Given the description of an element on the screen output the (x, y) to click on. 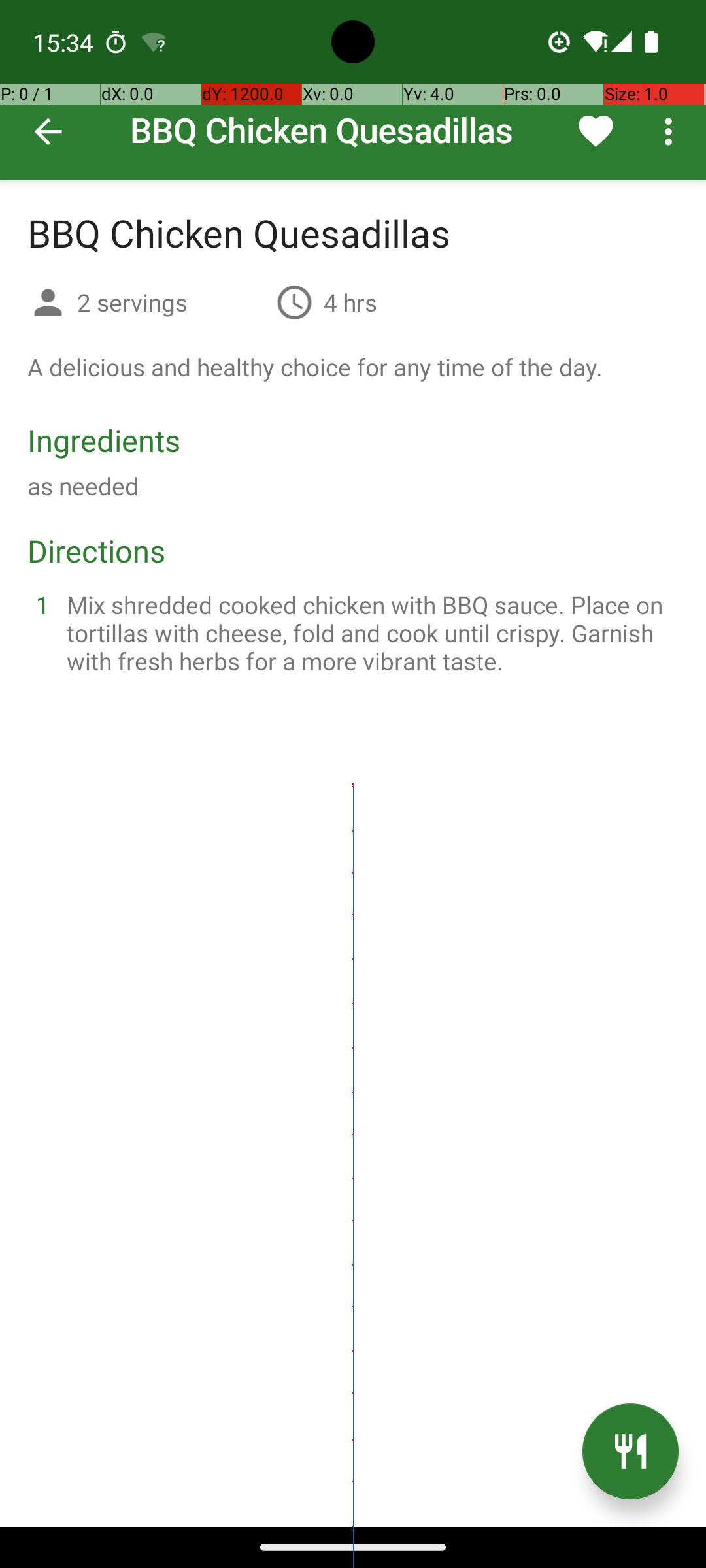
Mix shredded cooked chicken with BBQ sauce. Place on tortillas with cheese, fold and cook until crispy. Garnish with fresh herbs for a more vibrant taste. Element type: android.widget.TextView (368, 632)
